Given the description of an element on the screen output the (x, y) to click on. 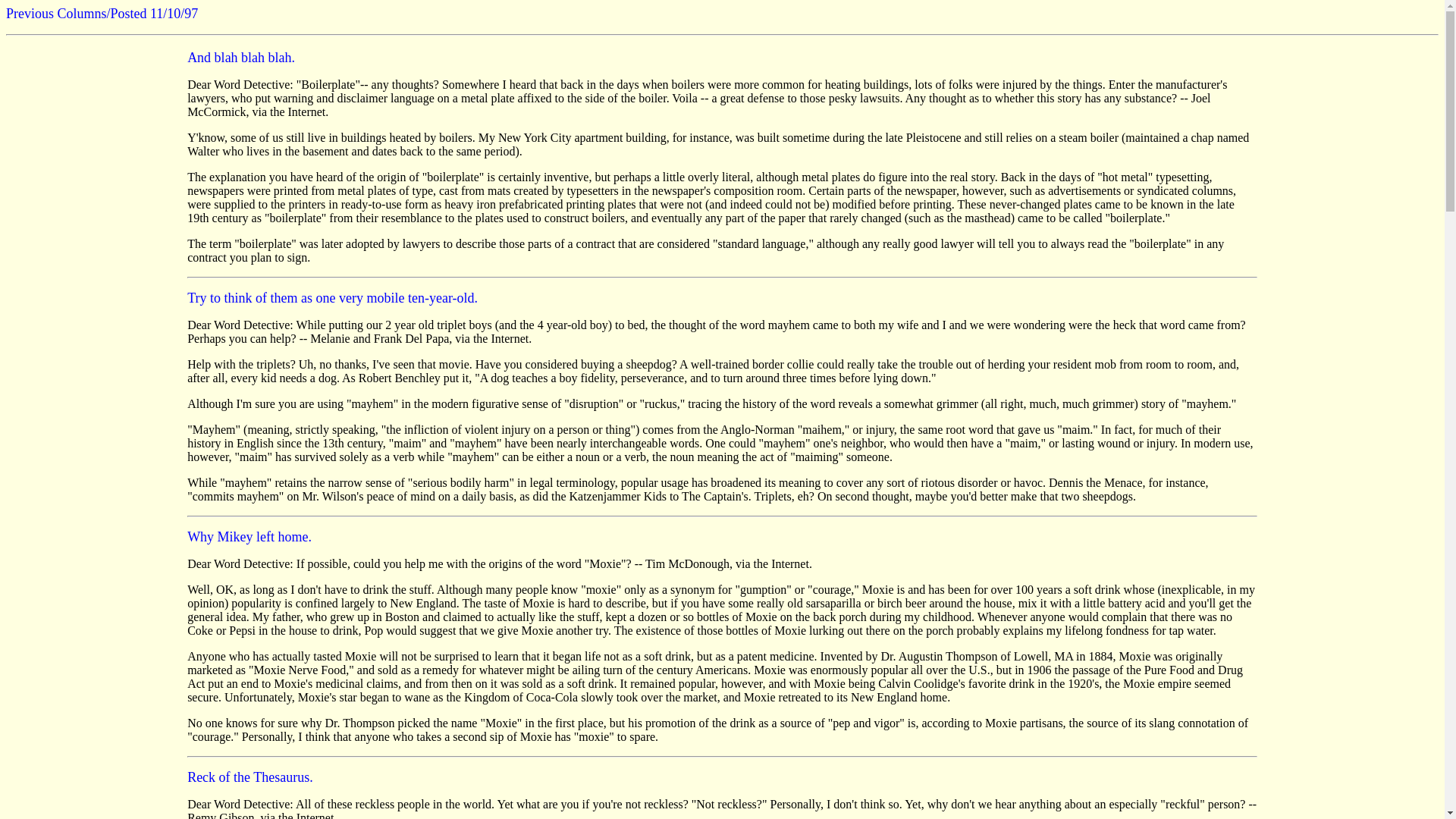
Try to think of them as one very mobile ten-year-old. (332, 297)
Why Mikey left home. (249, 536)
Reck of the Thesaurus. (250, 777)
And blah blah blah. (241, 57)
